Given the description of an element on the screen output the (x, y) to click on. 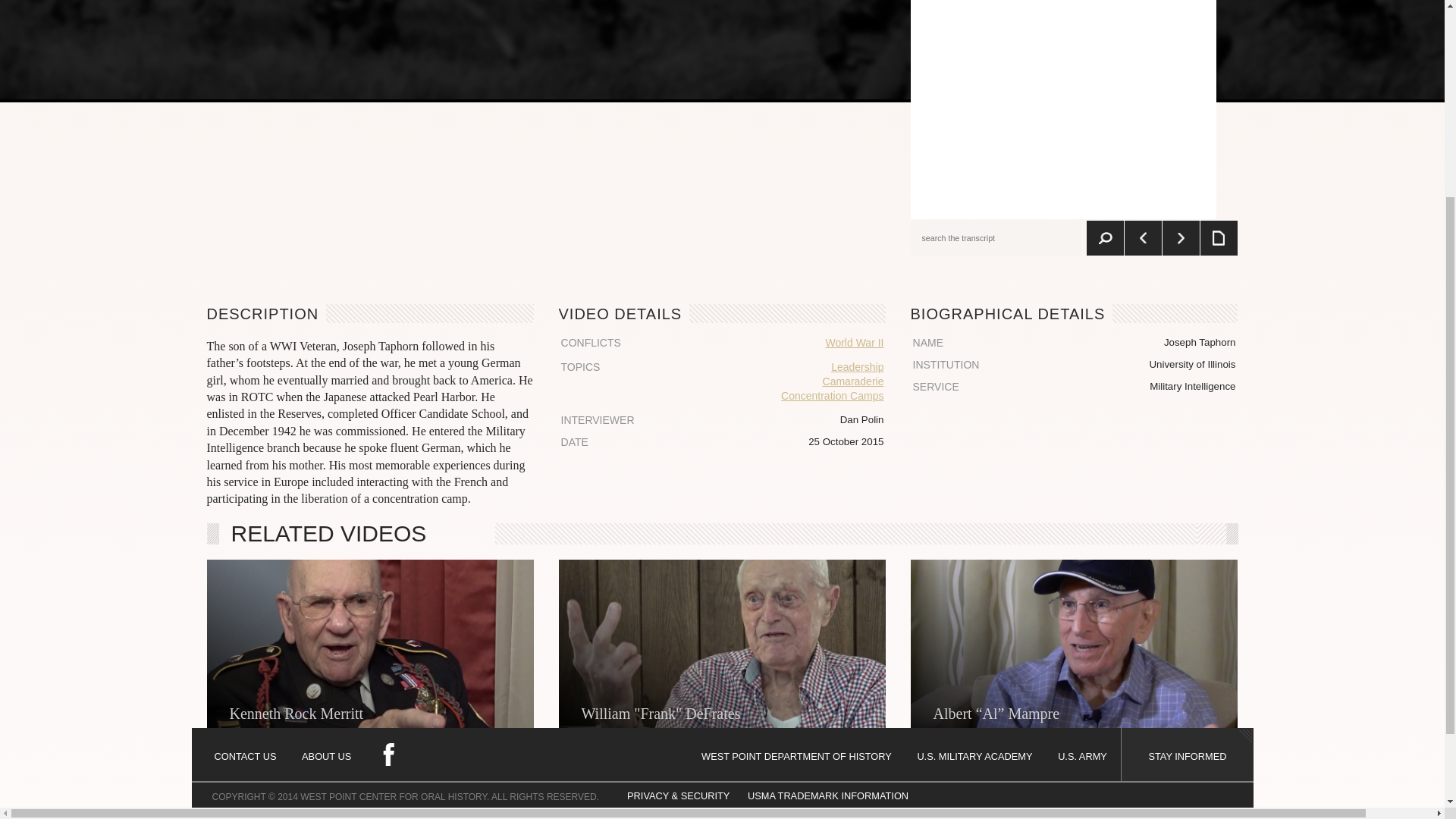
U.S. ARMY (1083, 476)
Leadership (790, 367)
U.S. MILITARY ACADEMY (975, 476)
WEST POINT DEPARTMENT OF HISTORY (797, 476)
World War II (790, 342)
Concentration Camps (790, 395)
Camaraderie (790, 381)
ABOUT US (325, 476)
USMA TRADEMARK INFORMATION (828, 515)
STAY INFORMED (1186, 476)
